Given the description of an element on the screen output the (x, y) to click on. 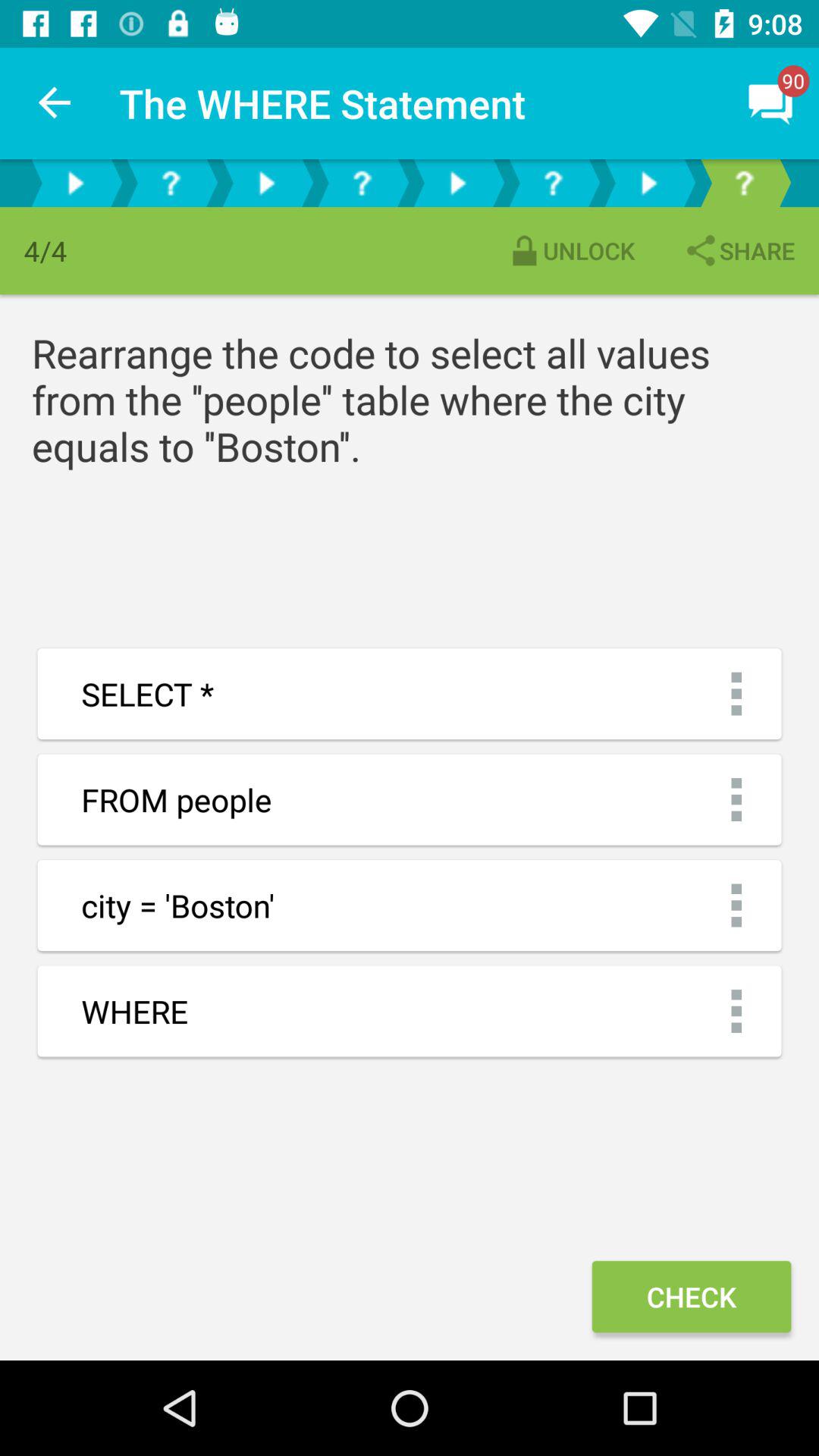
launch item next to the where statement (55, 103)
